Given the description of an element on the screen output the (x, y) to click on. 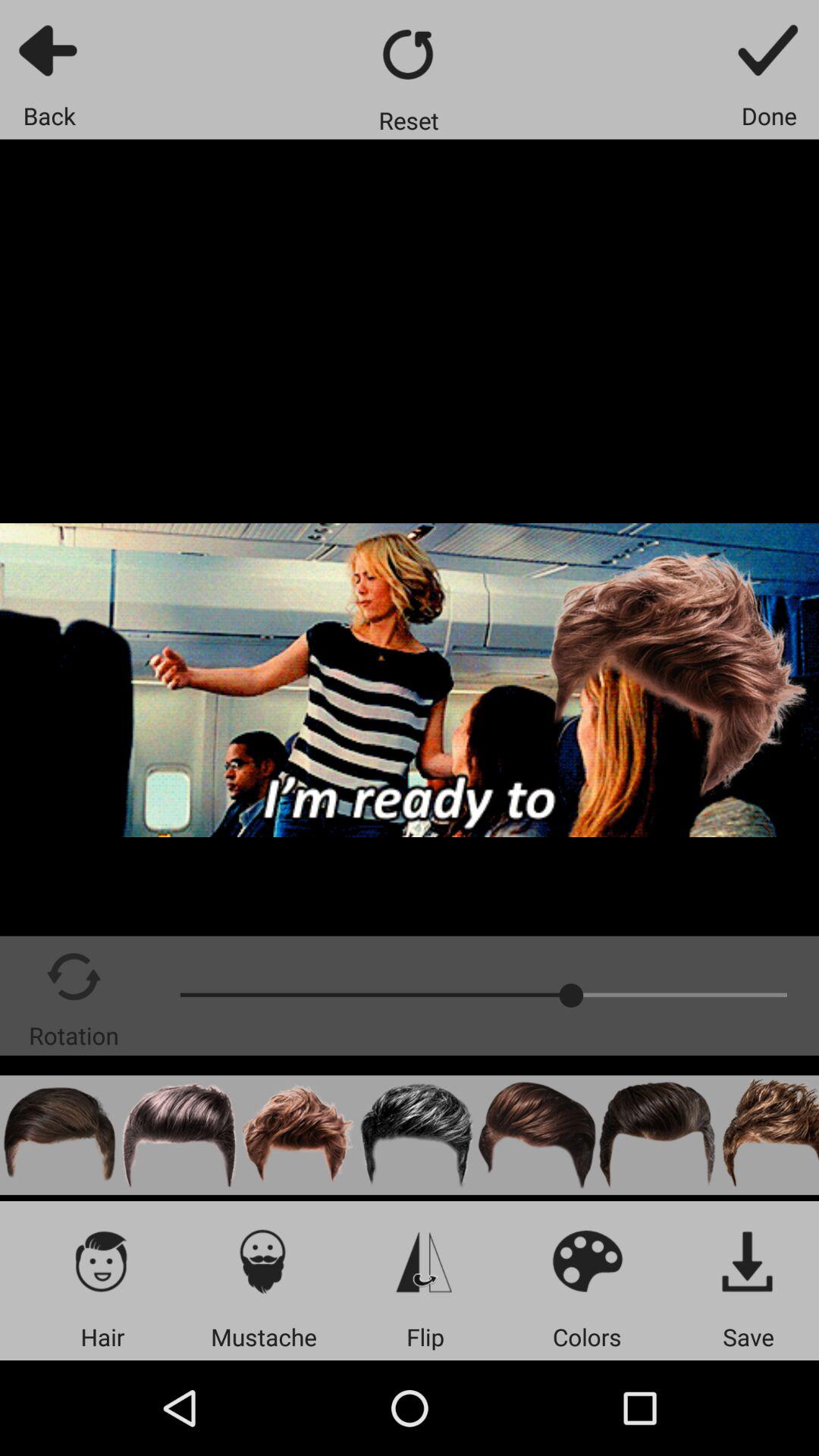
save image (748, 1260)
